Given the description of an element on the screen output the (x, y) to click on. 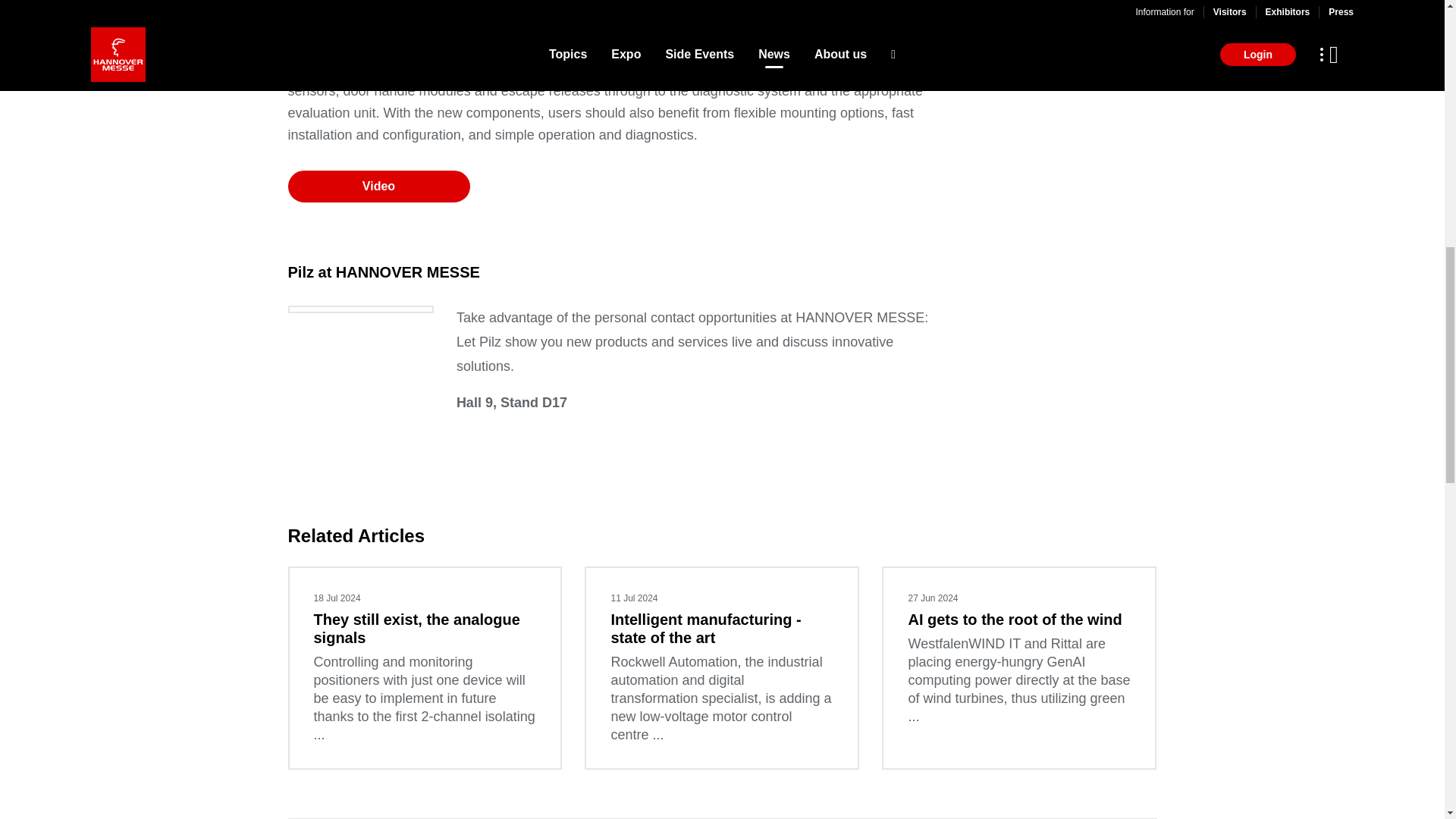
Video (379, 186)
